Given the description of an element on the screen output the (x, y) to click on. 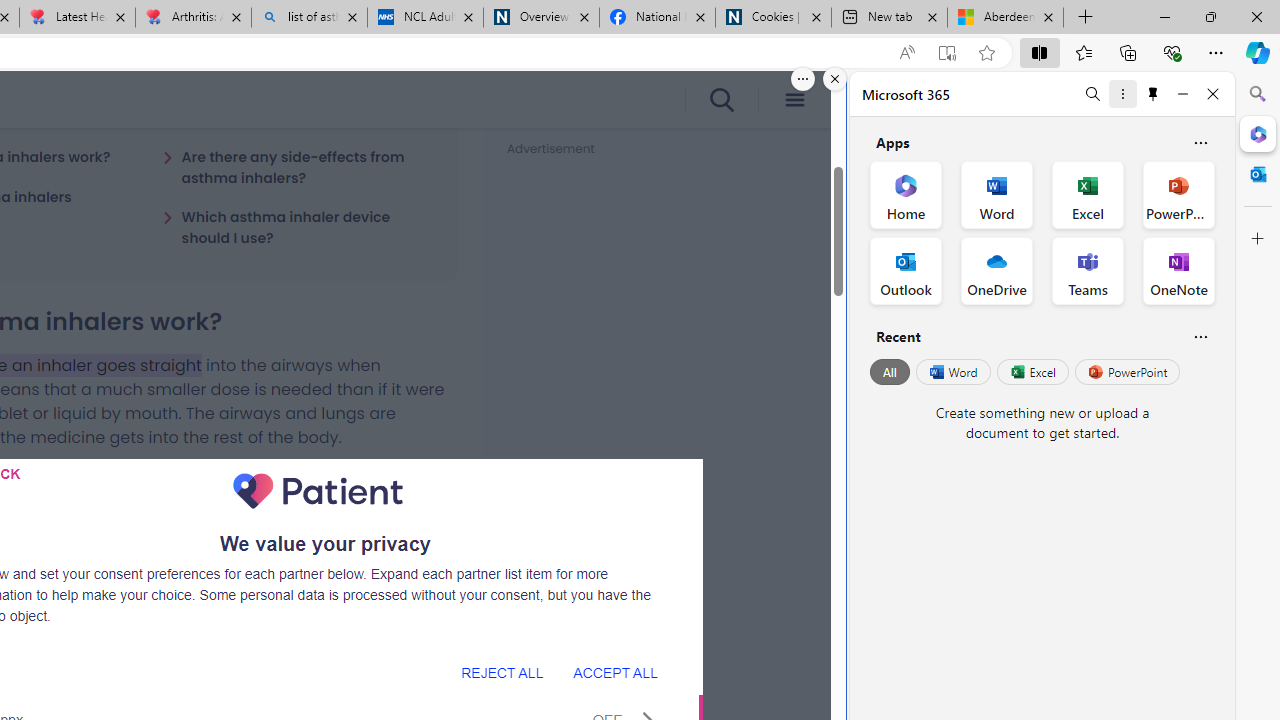
Arthritis: Ask Health Professionals (192, 17)
Excel Office App (1087, 194)
Outlook Office App (906, 270)
Word (952, 372)
Is this helpful? (1200, 336)
Teams Office App (1087, 270)
All (890, 372)
Word Office App (996, 194)
